Given the description of an element on the screen output the (x, y) to click on. 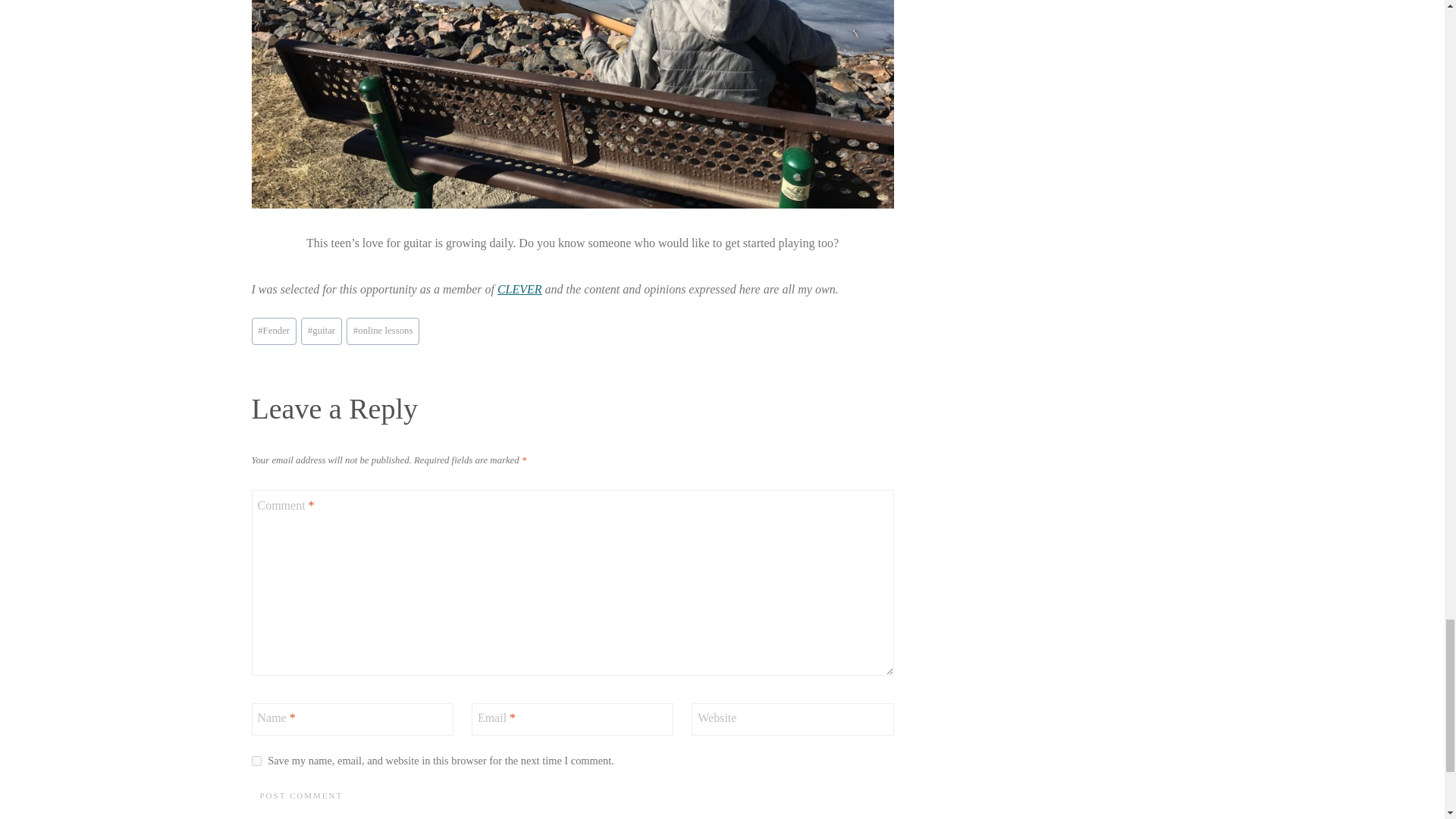
guitar (321, 330)
Fender (274, 330)
online lessons (382, 330)
CLEVER (519, 288)
Post Comment (301, 795)
Post Comment (301, 795)
yes (256, 760)
